Given the description of an element on the screen output the (x, y) to click on. 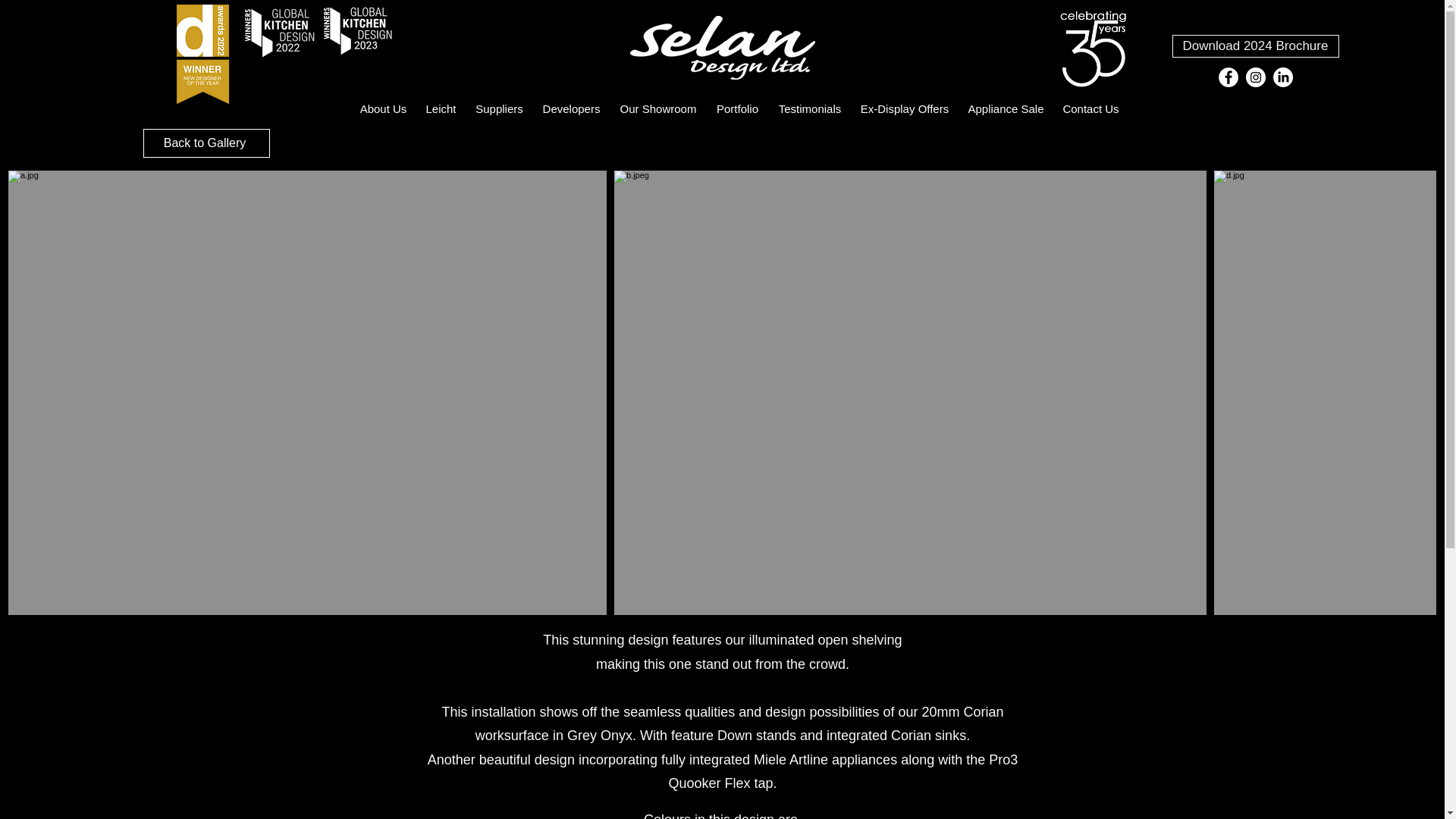
Contact Us (1091, 108)
Leicht (439, 108)
Ex-Display Offers (904, 108)
Testimonials (809, 108)
Appliance Sale (1006, 108)
Portfolio (737, 108)
Developers (571, 108)
Back to Gallery (205, 143)
About Us (382, 108)
Suppliers (498, 108)
new designer.png (277, 30)
Our Showroom (658, 108)
Download 2024 Brochure (1255, 46)
new designer.png (357, 30)
